Given the description of an element on the screen output the (x, y) to click on. 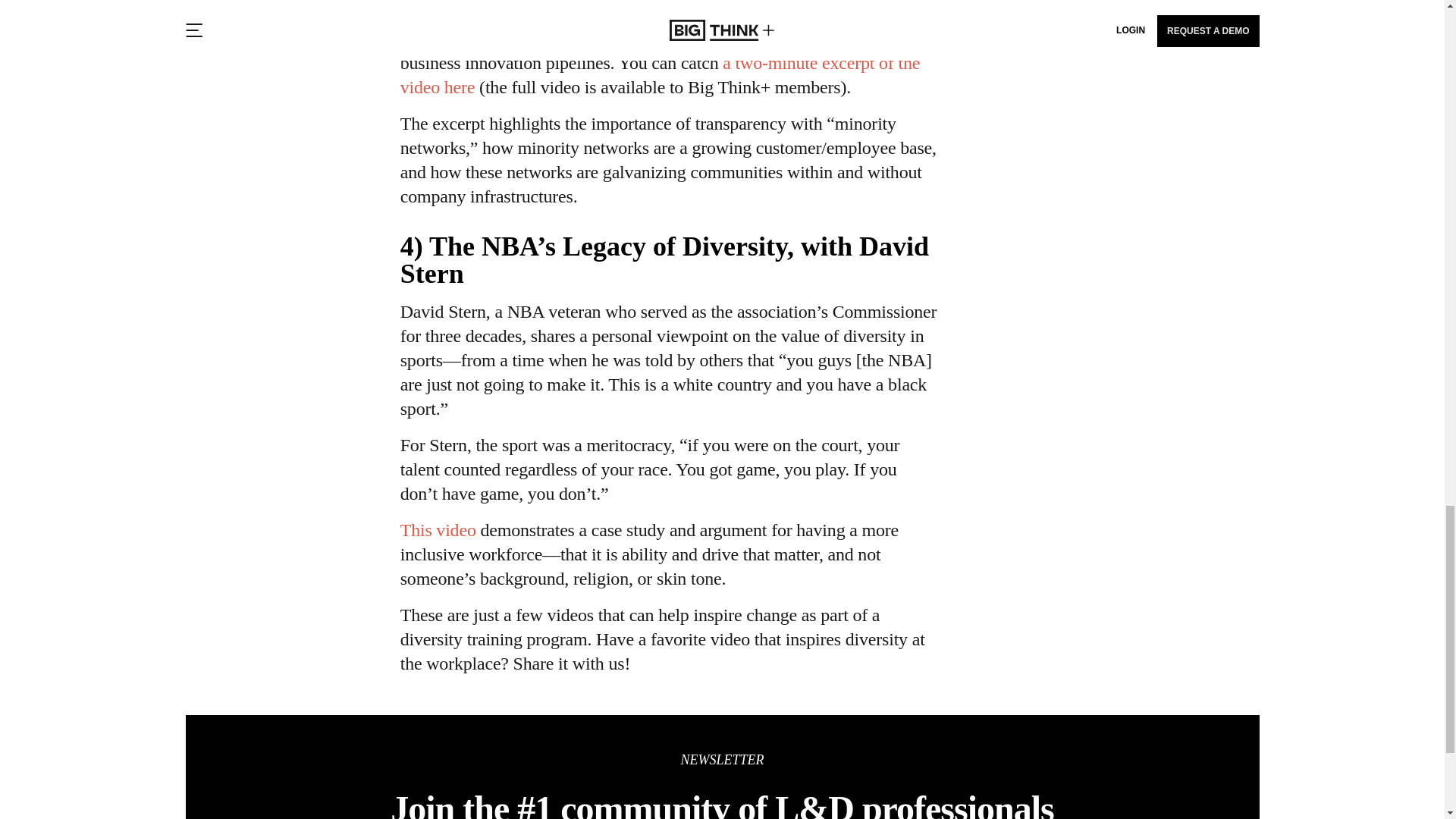
a two-minute excerpt of the video here (660, 75)
This video (438, 529)
